Given the description of an element on the screen output the (x, y) to click on. 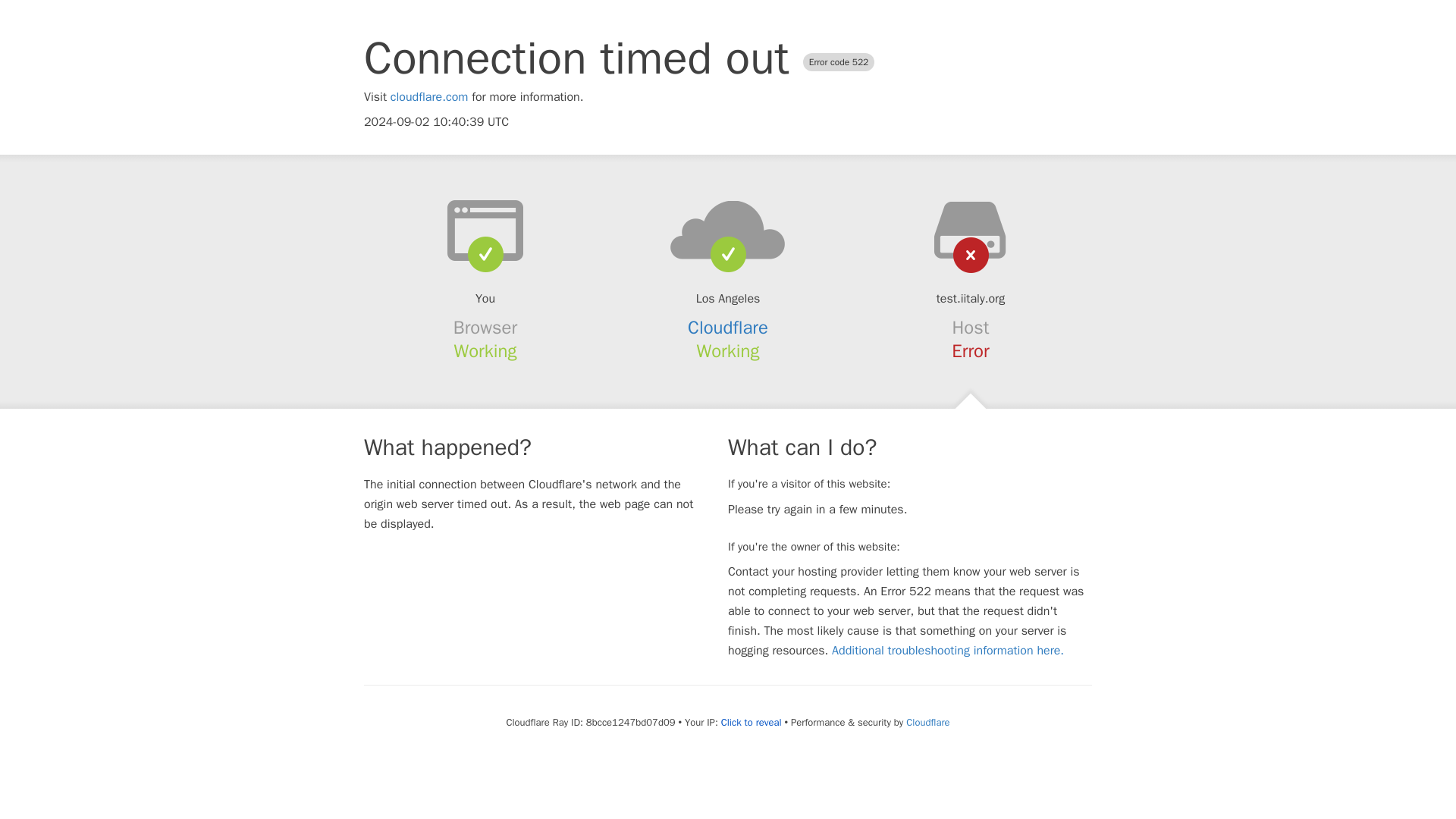
Cloudflare (927, 721)
cloudflare.com (429, 96)
Click to reveal (750, 722)
Cloudflare (727, 327)
Additional troubleshooting information here. (947, 650)
